Given the description of an element on the screen output the (x, y) to click on. 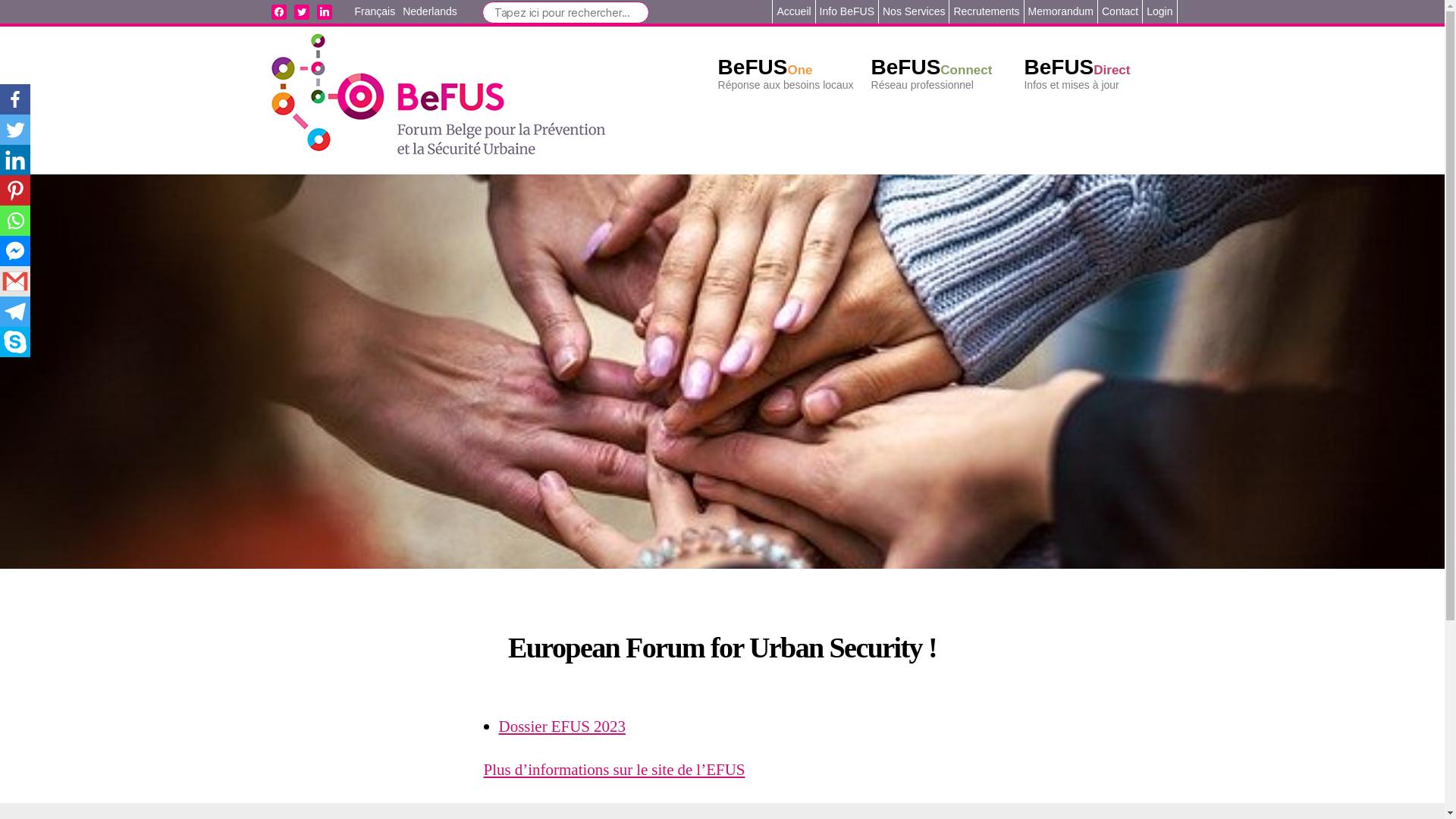
Accueil Element type: text (793, 11)
Skype Element type: hover (15, 341)
Google Gmail Element type: hover (15, 281)
twitter Element type: text (301, 11)
linkedin Element type: text (324, 11)
Linkedin Element type: hover (15, 159)
Contact Element type: text (1119, 11)
BeFUSDirect Element type: text (1076, 66)
facebook Element type: text (278, 11)
Facebook Element type: hover (15, 99)
Dossier EFUS 2023 Element type: text (562, 726)
Recrutements Element type: text (986, 11)
Nederlands Element type: text (429, 11)
Pinterest Element type: hover (15, 190)
Login Element type: text (1159, 11)
Twitter Element type: hover (15, 129)
Whatsapp Element type: hover (15, 220)
Nos Services Element type: text (913, 11)
Telegram Element type: hover (15, 311)
BeFUSOne Element type: text (765, 66)
Info BeFUS Element type: text (846, 11)
BeFUSConnect Element type: text (931, 66)
Memorandum Element type: text (1060, 11)
